Given the description of an element on the screen output the (x, y) to click on. 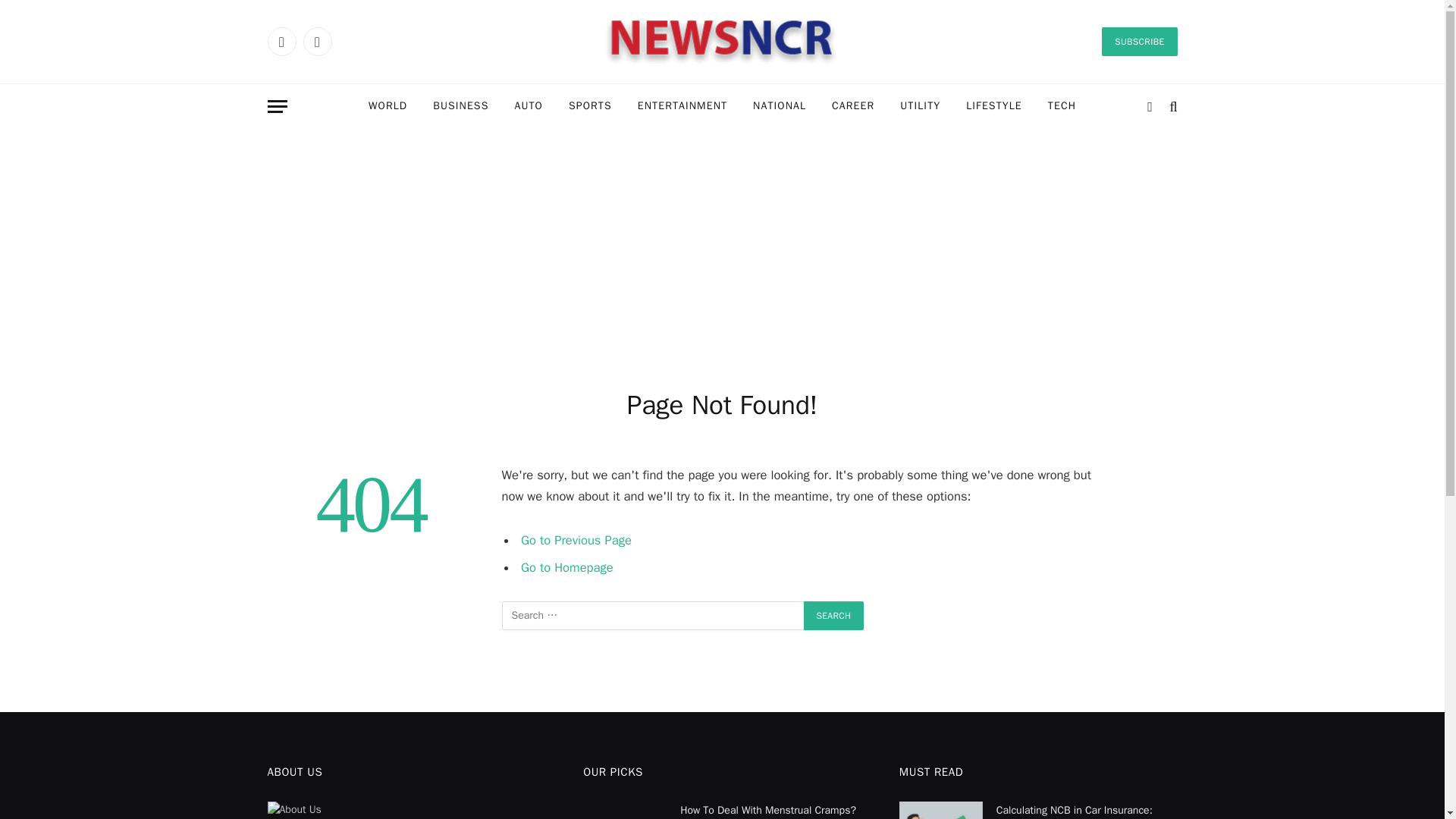
BUSINESS (460, 106)
SPORTS (590, 106)
SUBSCRIBE (1139, 41)
Facebook (280, 41)
TECH (1062, 106)
Search (833, 615)
News NCR (722, 41)
WORLD (387, 106)
Switch to Dark Design - easier on eyes. (1149, 106)
How To Deal With Menstrual Cramps? (624, 810)
AUTO (528, 106)
CAREER (852, 106)
LIFESTYLE (994, 106)
Calculating NCB in Car Insurance: What You Need to Know (940, 810)
